Given the description of an element on the screen output the (x, y) to click on. 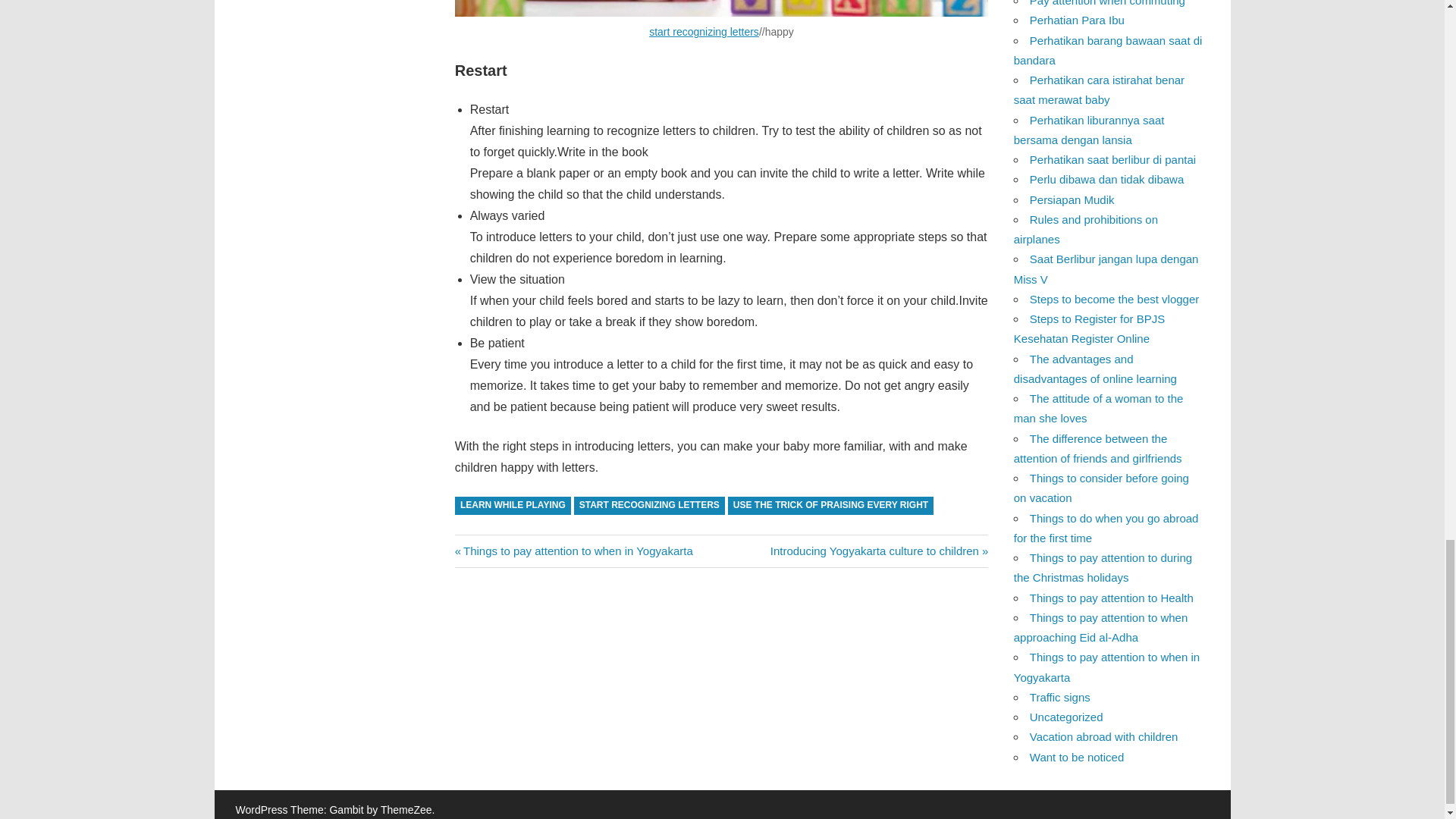
USE THE TRICK OF PRAISING EVERY RIGHT (879, 550)
START RECOGNIZING LETTERS (831, 505)
start recognizing letters (649, 505)
LEARN WHILE PLAYING (573, 550)
